Given the description of an element on the screen output the (x, y) to click on. 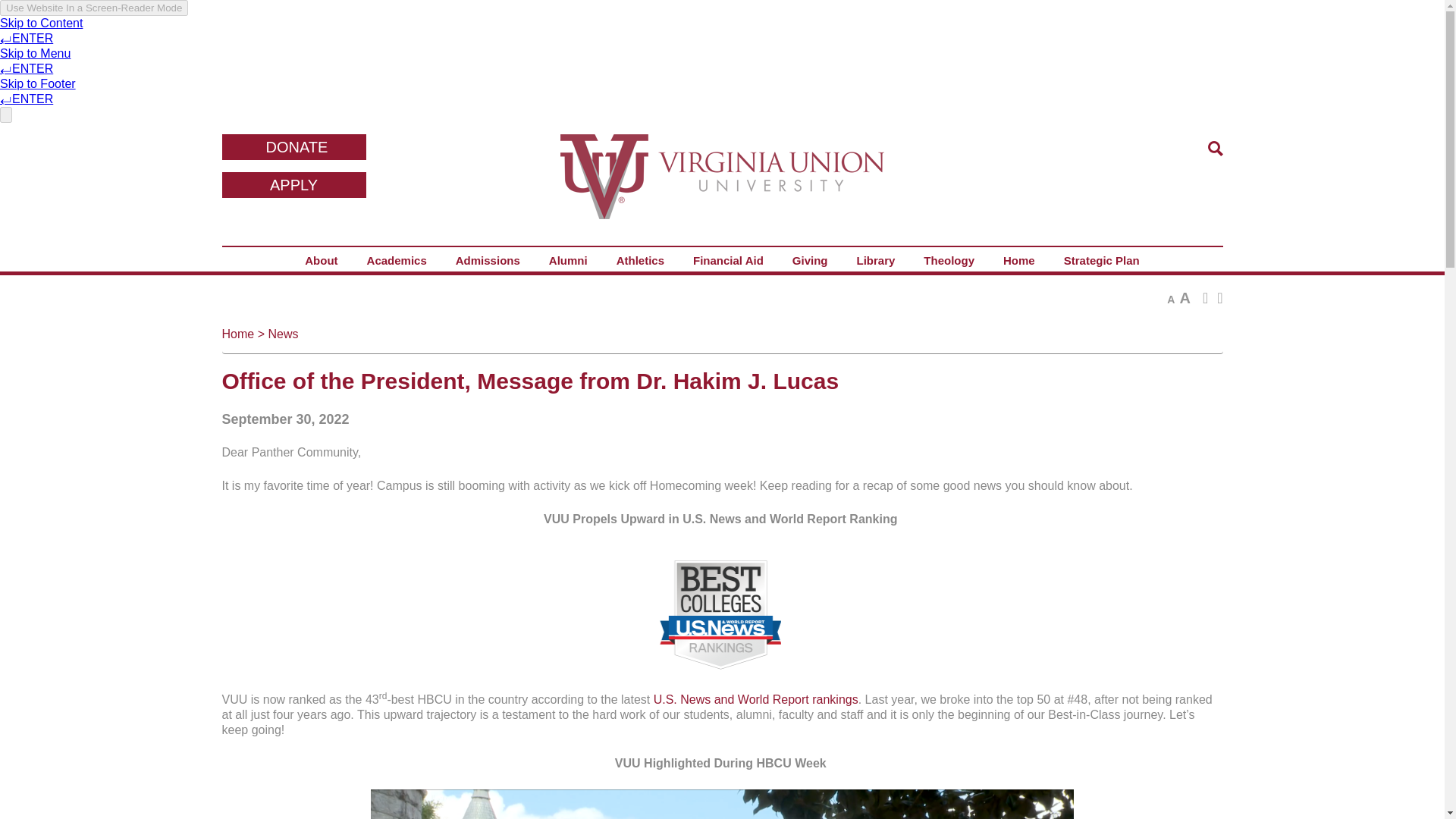
Virginia Union University (721, 187)
DONATE (293, 146)
APPLY (293, 184)
Admissions (487, 261)
Virginia Union University (721, 187)
Academics (396, 261)
Increase Font Size (1184, 297)
About (320, 261)
